Given the description of an element on the screen output the (x, y) to click on. 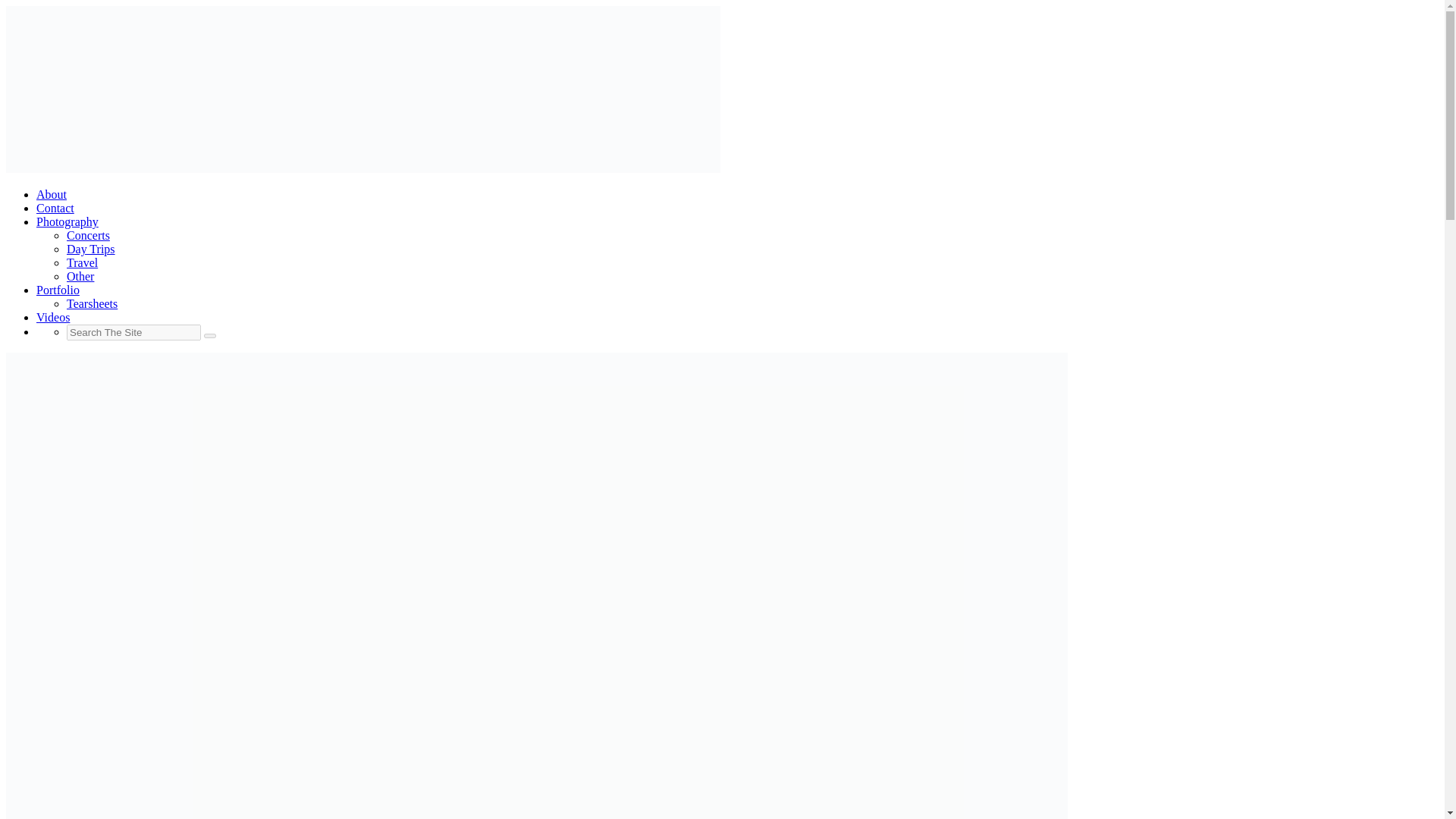
Day Trips (90, 248)
Other (80, 276)
Contact (55, 207)
Videos (52, 317)
Day Trip Photography (90, 248)
Photography (67, 221)
Travel Photography (81, 262)
About (51, 194)
Travel (81, 262)
Portfolio (58, 289)
